Given the description of an element on the screen output the (x, y) to click on. 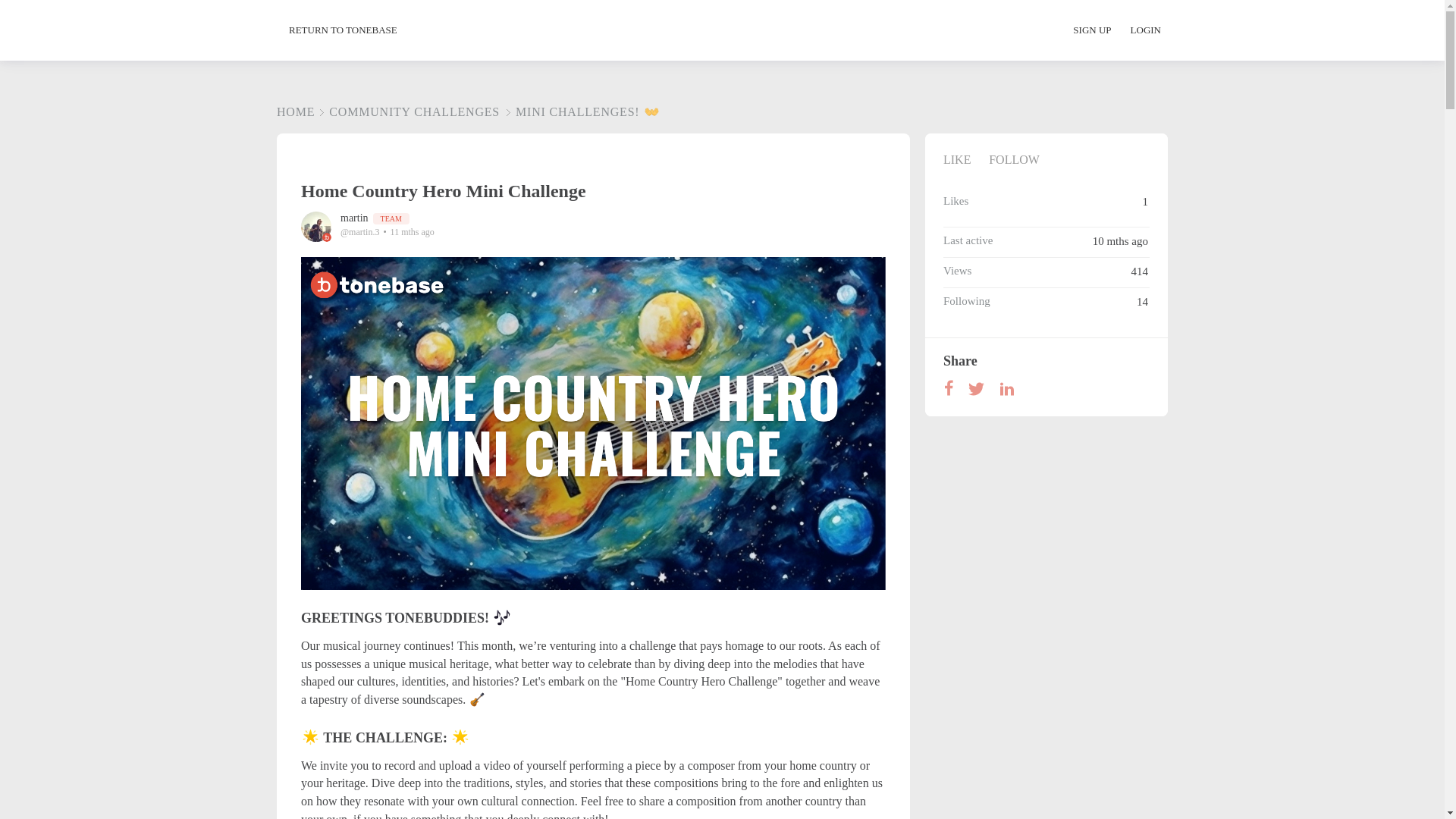
LOGIN (1145, 30)
RETURN TO TONEBASE (342, 30)
martinTEAM (375, 217)
HOME (295, 111)
COMMUNITY CHALLENGES (407, 111)
MINI CHALLENGES! (581, 111)
SIGN UP (1099, 30)
